Given the description of an element on the screen output the (x, y) to click on. 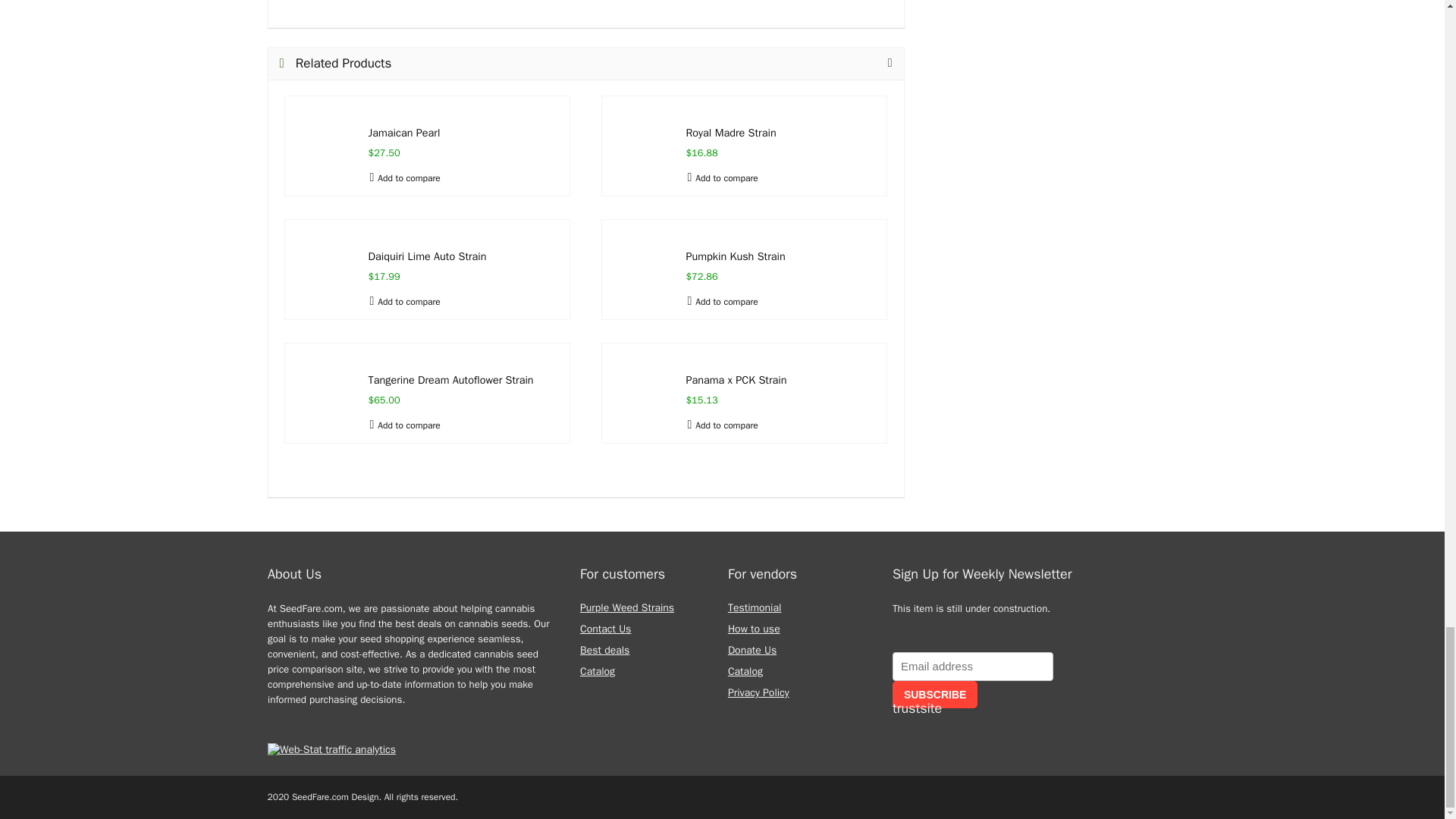
Subscribe (934, 694)
